Given the description of an element on the screen output the (x, y) to click on. 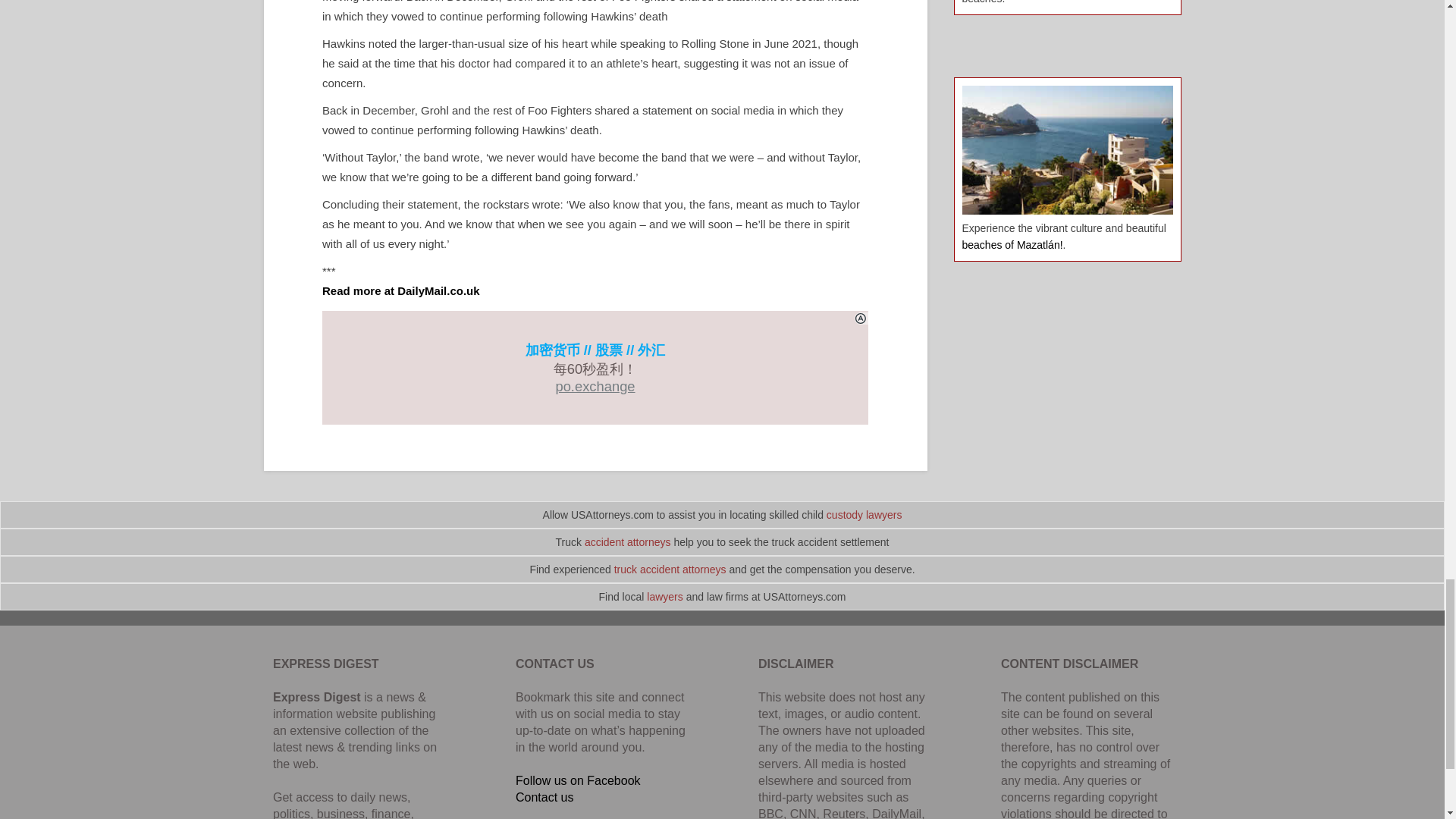
truck accident attorneys (670, 569)
accident attorneys (628, 541)
custody lawyers (864, 514)
Read more at DailyMail.co.uk (400, 290)
lawyers (664, 596)
